Given the description of an element on the screen output the (x, y) to click on. 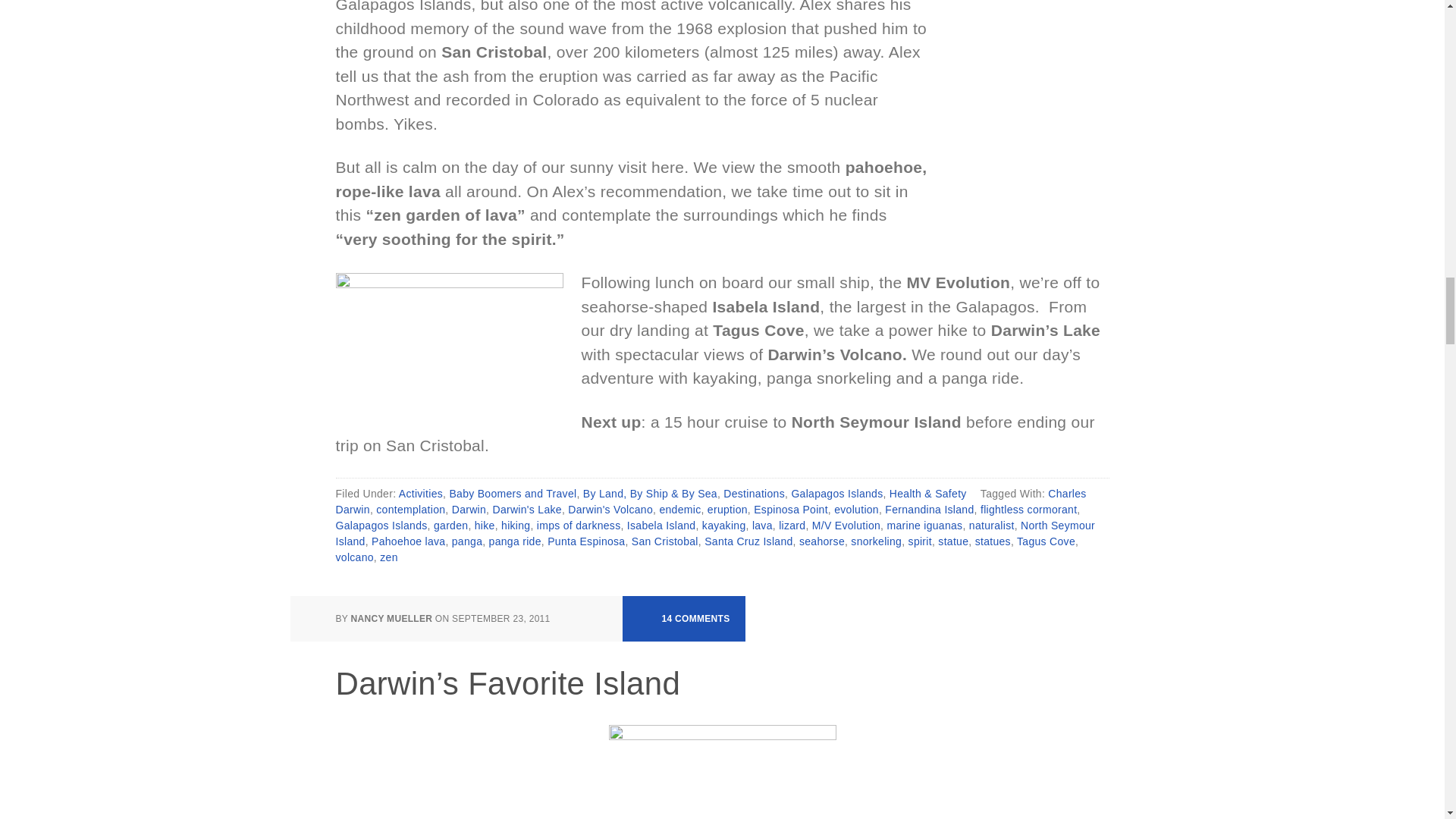
Activities (420, 492)
Charles Darwin (710, 500)
Galapagos Islands (836, 492)
Destinations (753, 492)
Baby Boomers and Travel (512, 492)
